Given the description of an element on the screen output the (x, y) to click on. 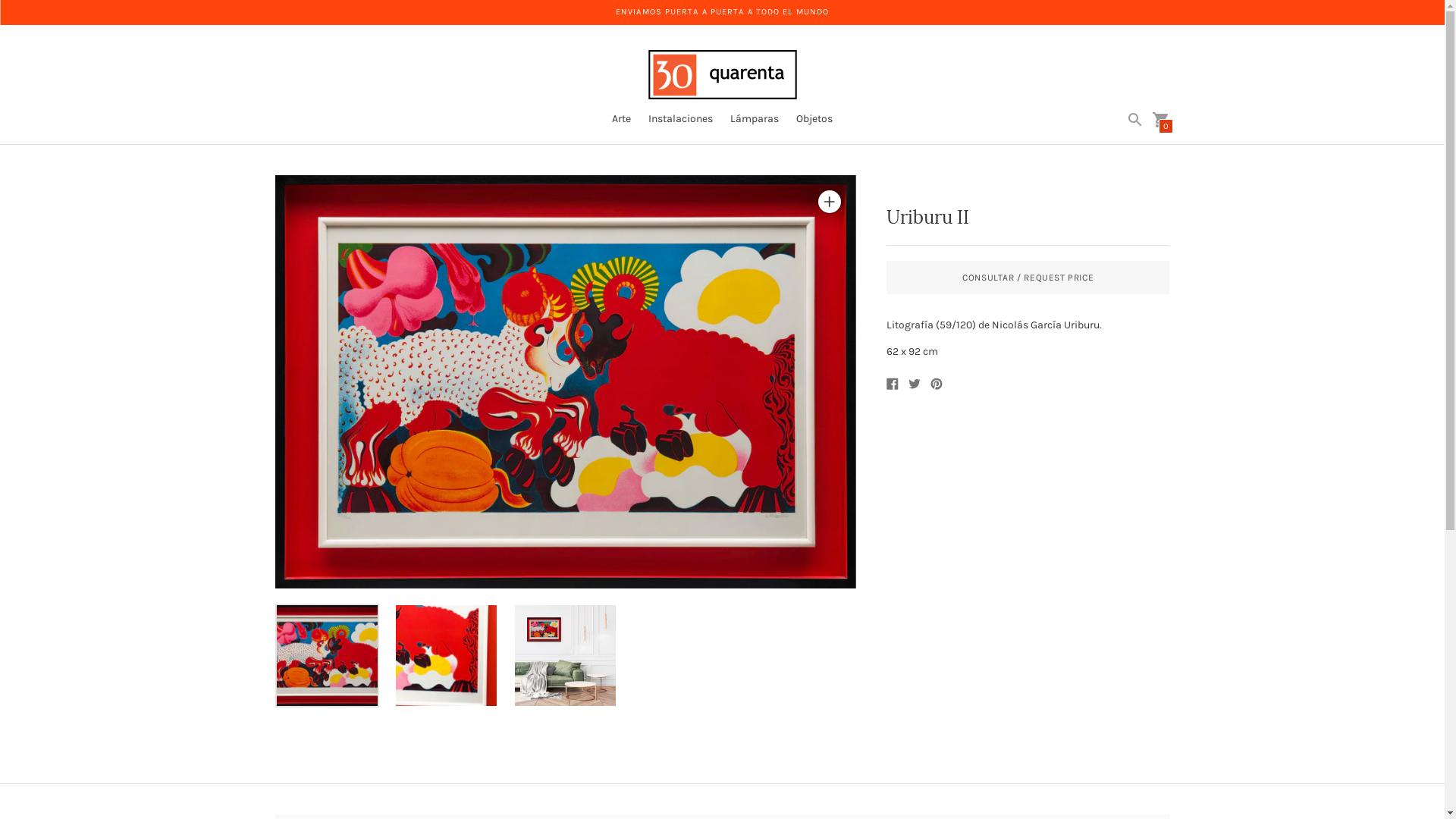
0 Element type: text (1160, 118)
Compartir en Twitter Element type: text (914, 383)
Compartir en Pinterest Element type: text (936, 383)
Compartir en Facebook Element type: text (892, 383)
Objetos Element type: text (814, 118)
Arte Element type: text (620, 118)
CONSULTAR / REQUEST PRICE Element type: text (1027, 277)
Instalaciones Element type: text (680, 118)
